Given the description of an element on the screen output the (x, y) to click on. 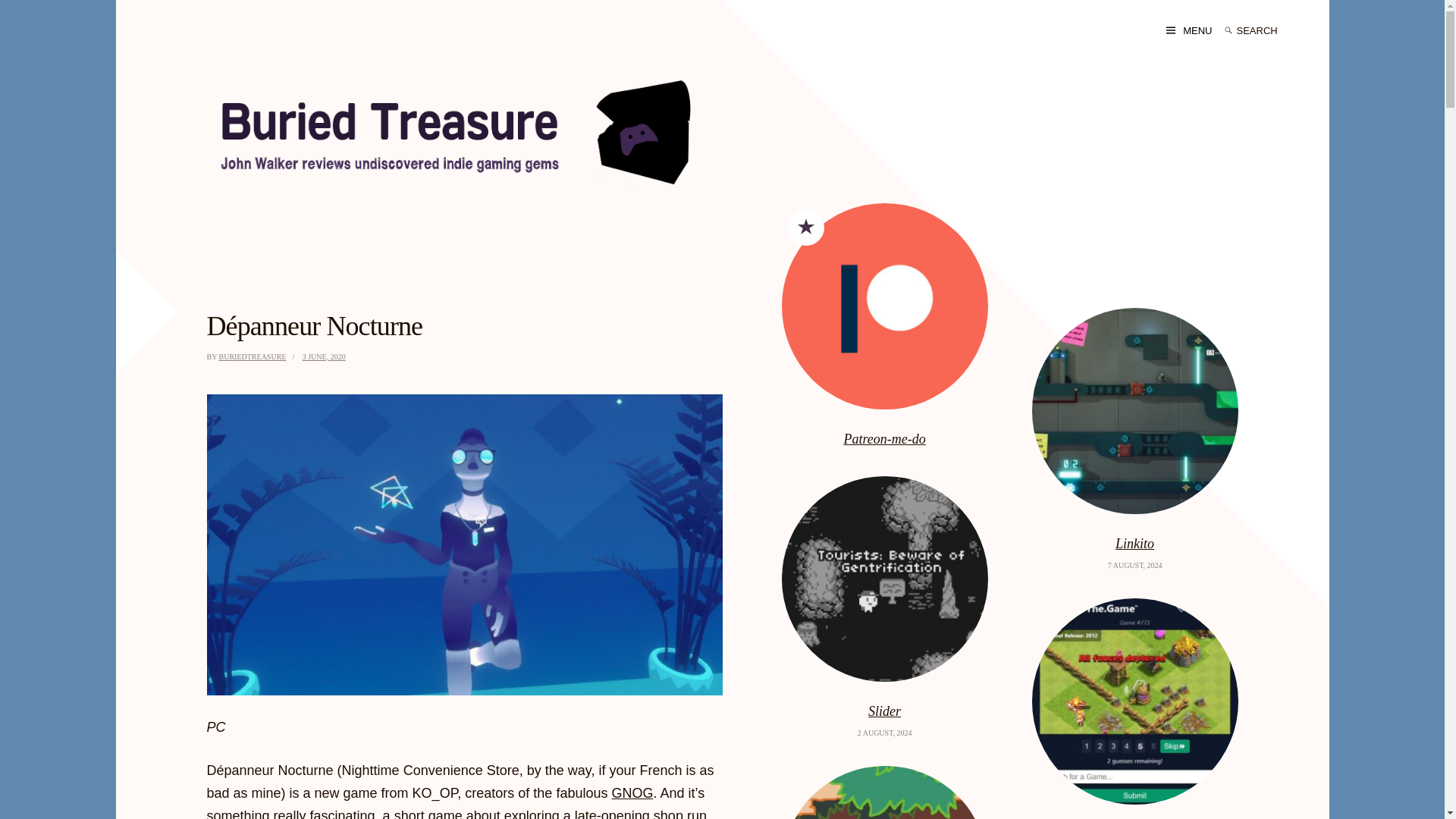
Patreon-me-do (884, 438)
GNOG (631, 792)
MENU (1188, 30)
BURIEDTREASURE (252, 356)
Search for: (1267, 29)
Linkito (1135, 543)
3 JUNE, 2020 (324, 356)
7 AUGUST, 2024 (1134, 565)
